Given the description of an element on the screen output the (x, y) to click on. 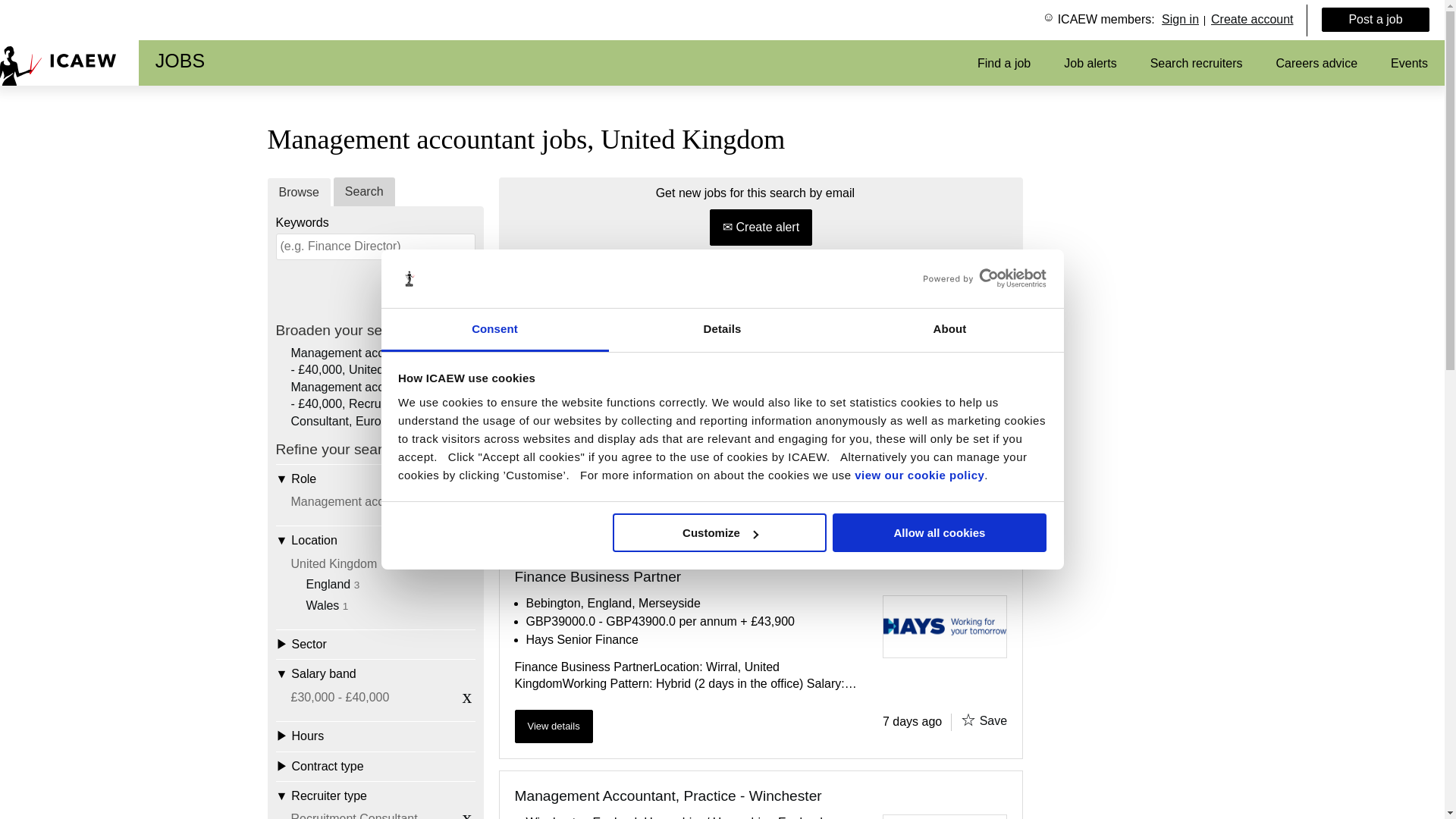
Consent (494, 330)
view our cookie policy (919, 474)
Cookie Policy (919, 474)
Search (443, 287)
About (948, 330)
Details (721, 330)
